Given the description of an element on the screen output the (x, y) to click on. 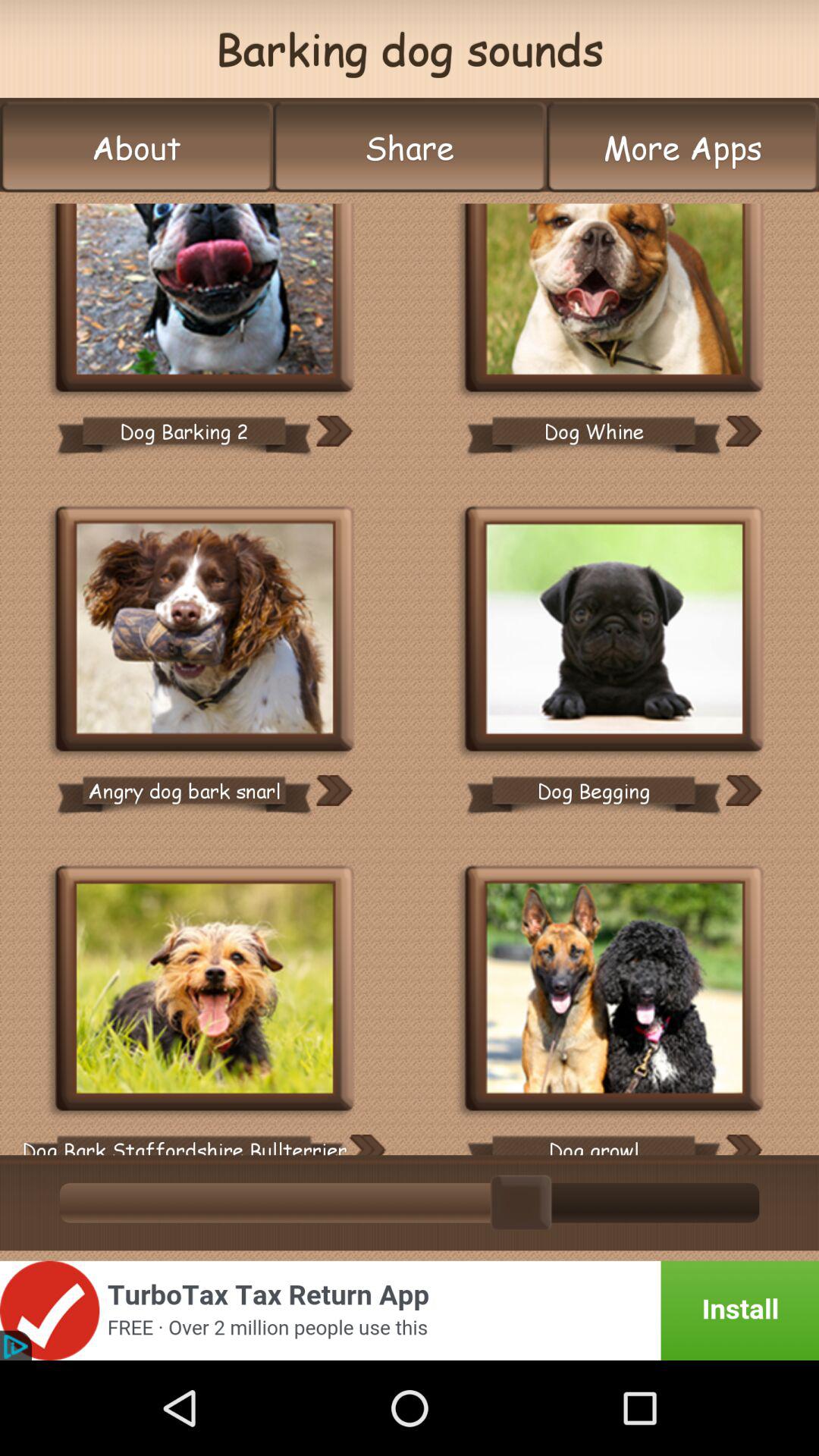
flip to dog begging item (593, 790)
